Given the description of an element on the screen output the (x, y) to click on. 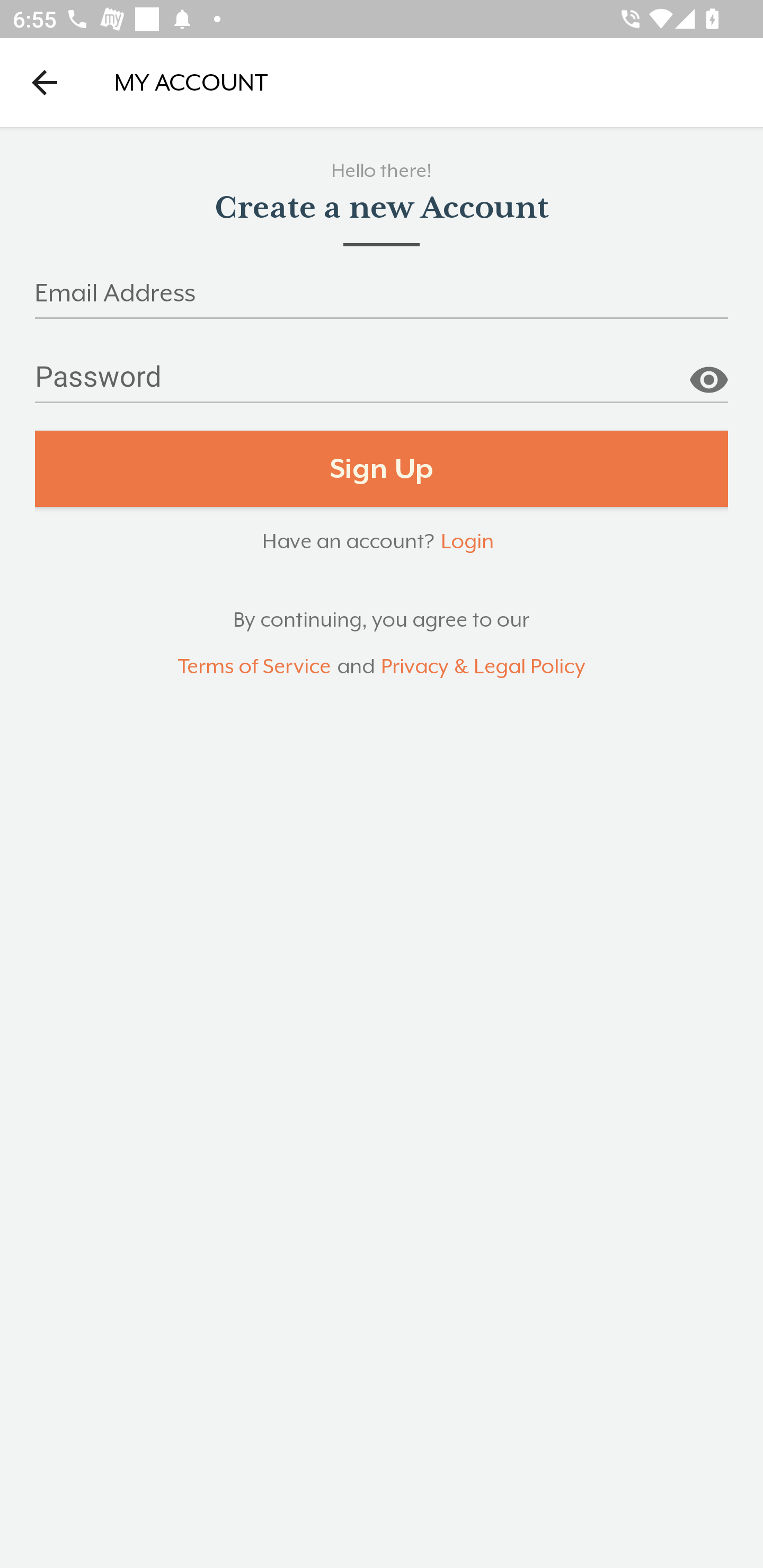
Navigate up (44, 82)
Email Address (381, 299)
 (708, 372)
Password (381, 383)
Sign Up (381, 468)
Login (467, 540)
Terms of Service (253, 666)
Privacy & Legal Policy (483, 666)
